Given the description of an element on the screen output the (x, y) to click on. 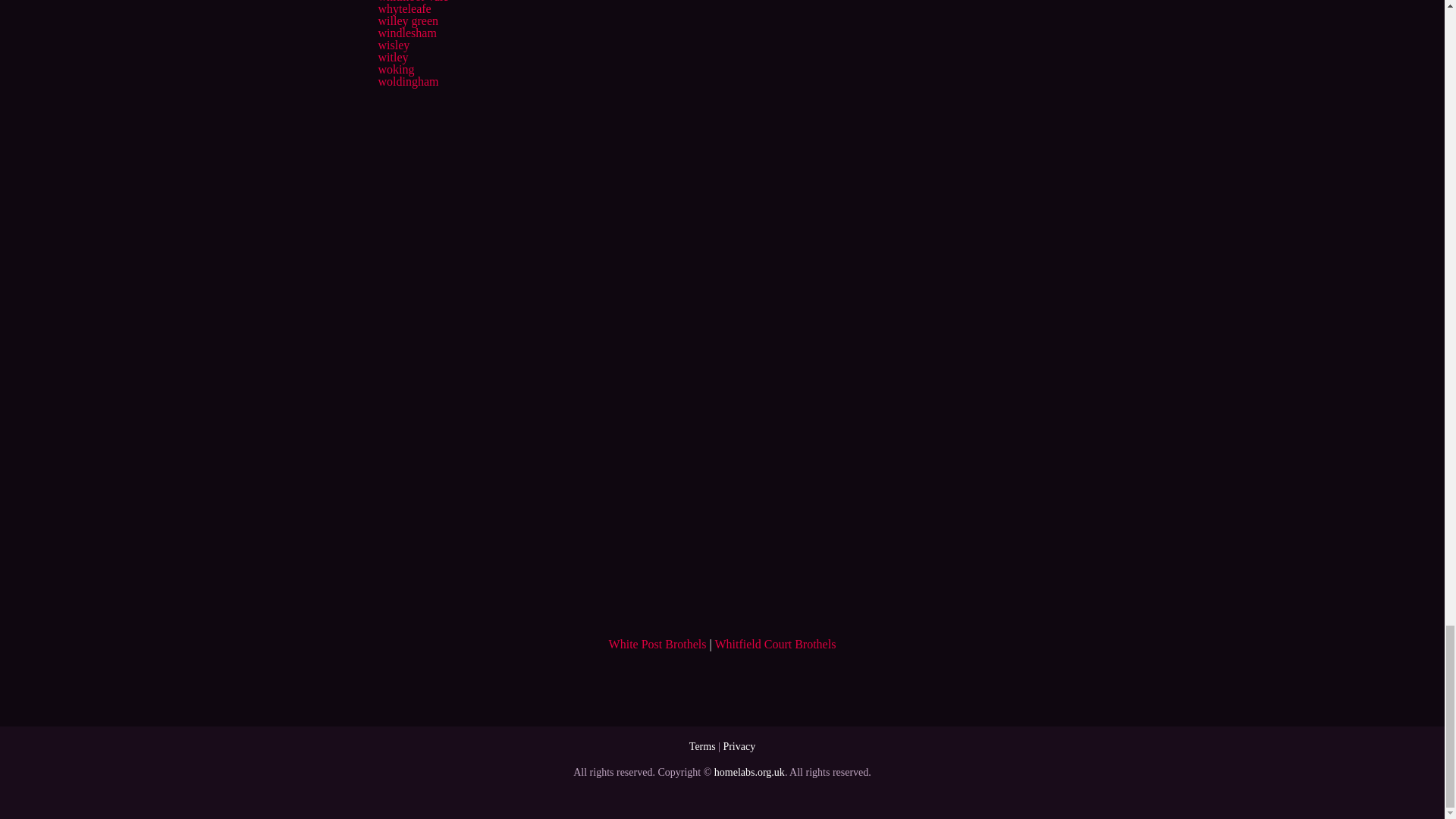
woking (395, 69)
homelabs.org.uk (749, 772)
willey green (407, 20)
Whitfield Court Brothels (774, 644)
wisley (393, 44)
windlesham (406, 32)
whyteleafe (403, 8)
Terms (702, 746)
Privacy (738, 746)
witley (392, 56)
